Given the description of an element on the screen output the (x, y) to click on. 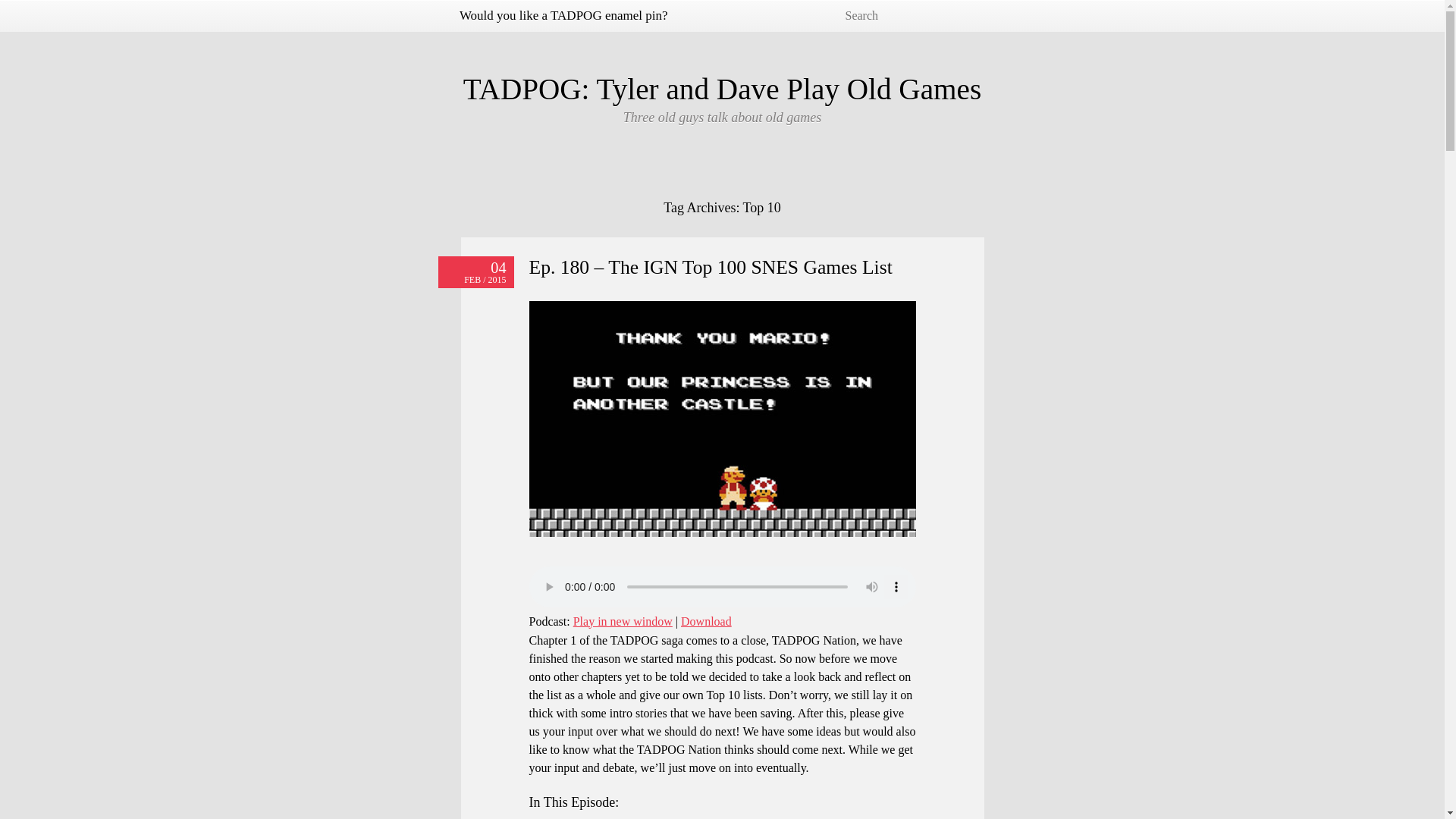
Download (706, 621)
TADPOG: Tyler and Dave Play Old Games (722, 88)
Play in new window (622, 621)
Play in new window (622, 621)
Download (706, 621)
Would you like a TADPOG enamel pin? (563, 15)
TADPOG: Tyler and Dave Play Old Games (722, 88)
